Given the description of an element on the screen output the (x, y) to click on. 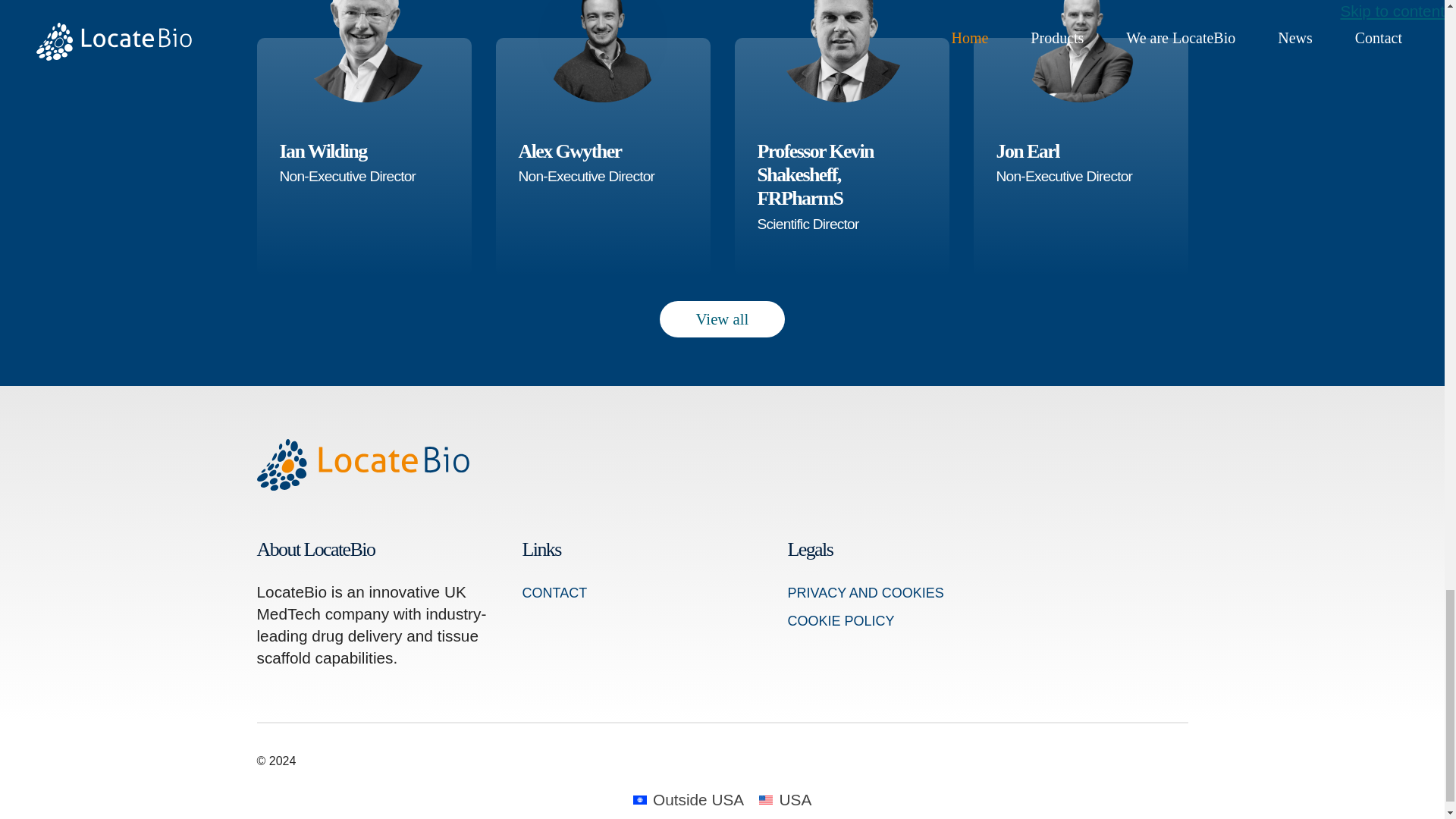
View all (841, 222)
CONTACT (722, 319)
COOKIE POLICY (553, 592)
PRIVACY AND COOKIES (603, 175)
USA (363, 175)
Outside USA (1081, 175)
